Given the description of an element on the screen output the (x, y) to click on. 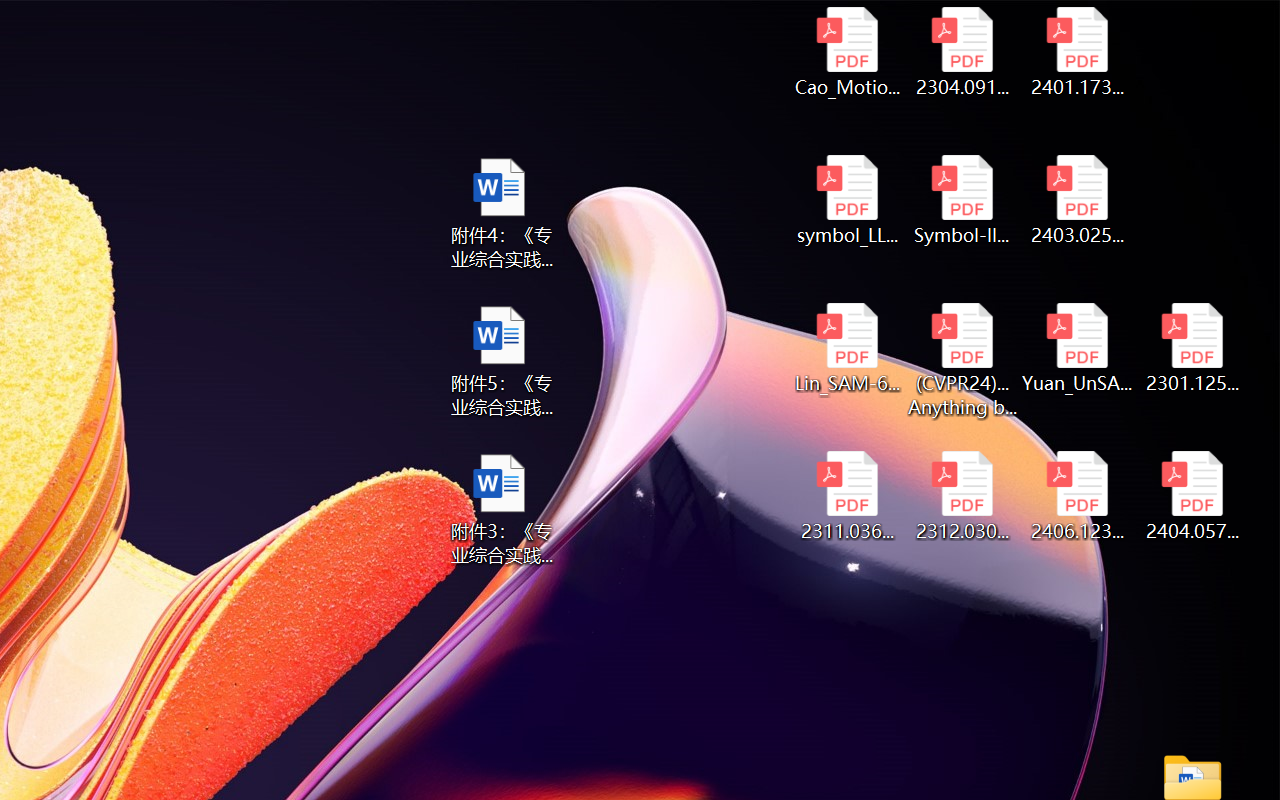
2401.17399v1.pdf (1077, 52)
2404.05719v1.pdf (1192, 496)
Symbol-llm-v2.pdf (962, 200)
(CVPR24)Matching Anything by Segmenting Anything.pdf (962, 360)
2311.03658v2.pdf (846, 496)
2304.09121v3.pdf (962, 52)
2301.12597v3.pdf (1192, 348)
2403.02502v1.pdf (1077, 200)
2312.03032v2.pdf (962, 496)
2406.12373v2.pdf (1077, 496)
